Given the description of an element on the screen output the (x, y) to click on. 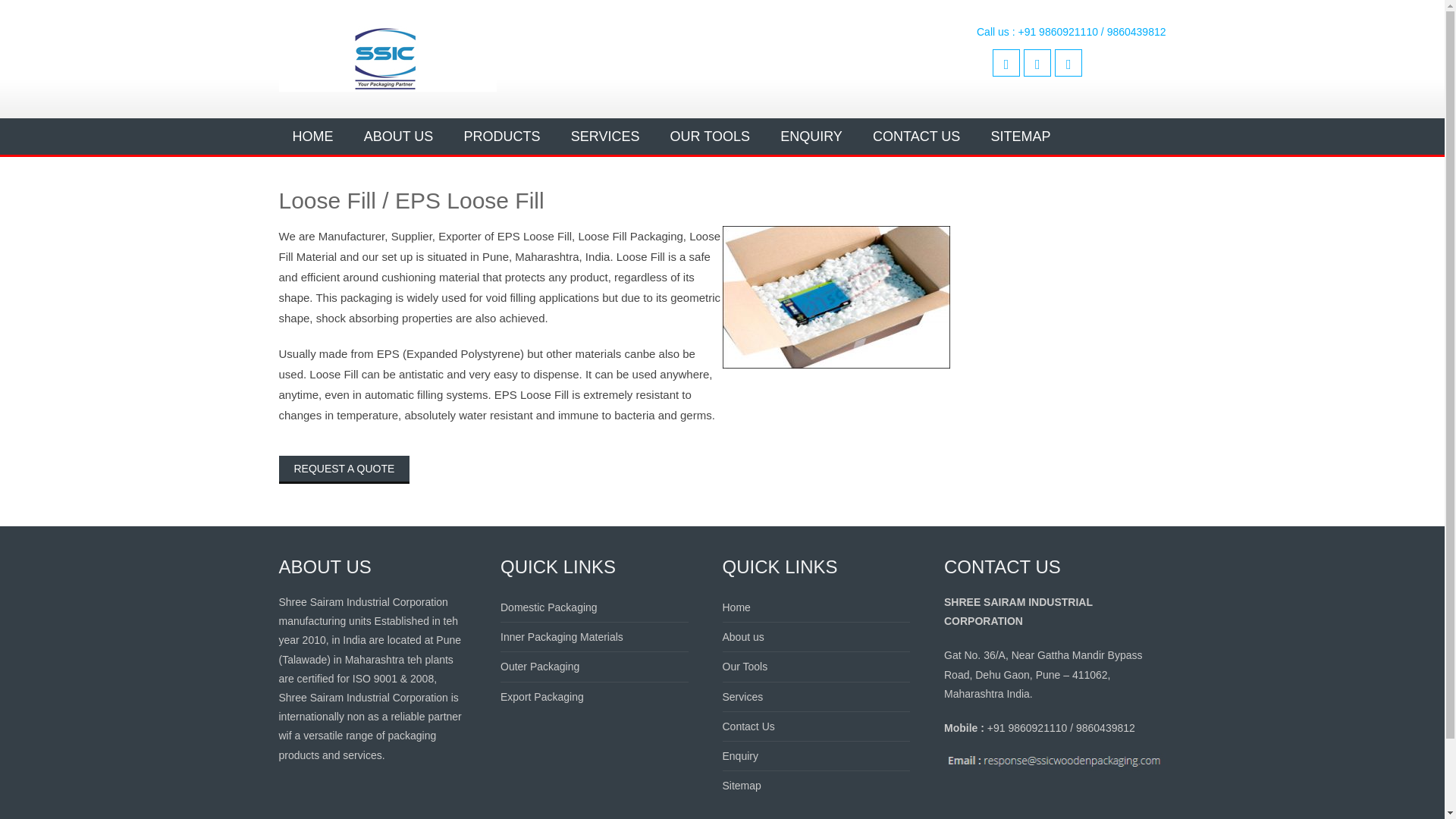
ABOUT US (398, 135)
Facebook (1006, 62)
HOME (313, 135)
Twitter (1037, 62)
PRODUCTS (501, 135)
Linkedin (1067, 62)
